Given the description of an element on the screen output the (x, y) to click on. 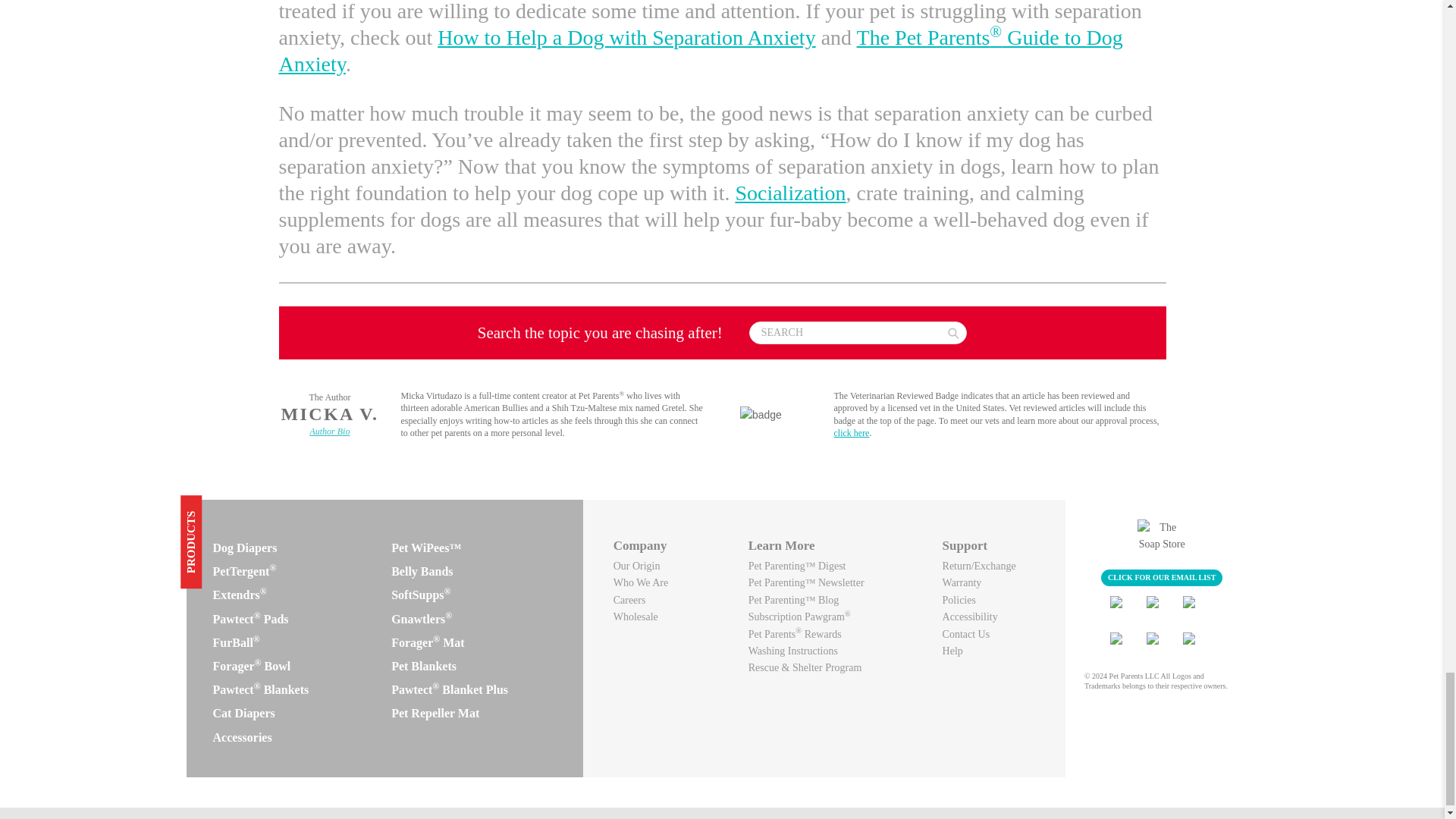
LinkedIn (1124, 645)
Youtube (1197, 609)
Instagram (1161, 609)
Facebook (1124, 609)
TikTok (1161, 645)
Pinterest (1197, 645)
